Given the description of an element on the screen output the (x, y) to click on. 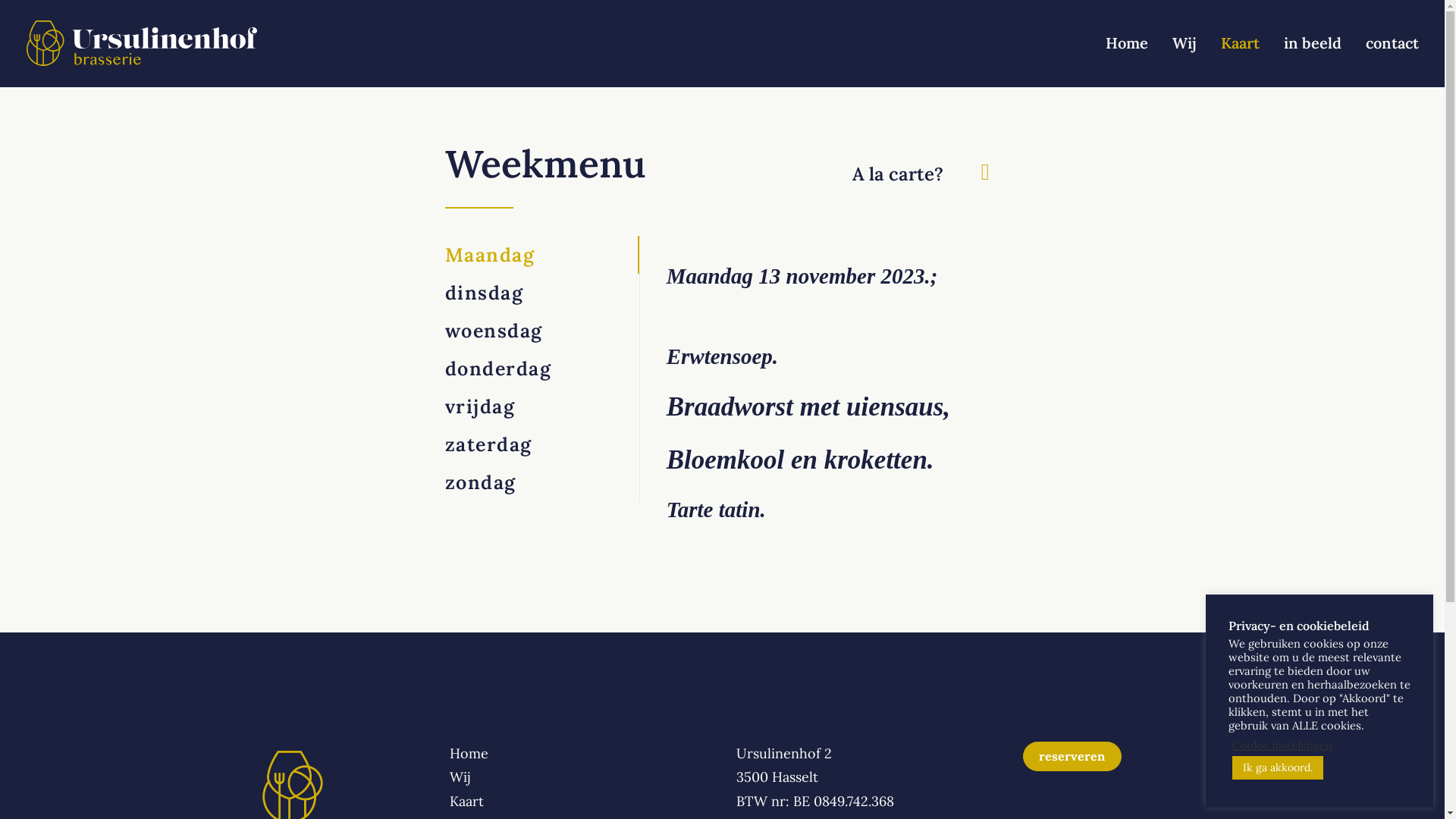
donderdag Element type: text (541, 368)
Ik ga akkoord. Element type: text (1277, 767)
Wij Element type: text (459, 776)
Kaart Element type: text (465, 800)
zaterdag Element type: text (541, 444)
Kaart Element type: text (1240, 43)
dinsdag Element type: text (541, 292)
Home Element type: text (1131, 43)
Maandag Element type: text (541, 254)
woensdag Element type: text (541, 330)
A la carte? Element type: text (897, 173)
Cookie instellingen Element type: text (1282, 745)
in beeld Element type: text (1311, 43)
vrijdag Element type: text (541, 406)
reserveren Element type: text (1071, 756)
Home Element type: text (467, 753)
contact Element type: text (1386, 43)
zondag Element type: text (541, 482)
Wij Element type: text (1184, 43)
Lunch Diner - Menukaart Element type: hover (985, 175)
